Given the description of an element on the screen output the (x, y) to click on. 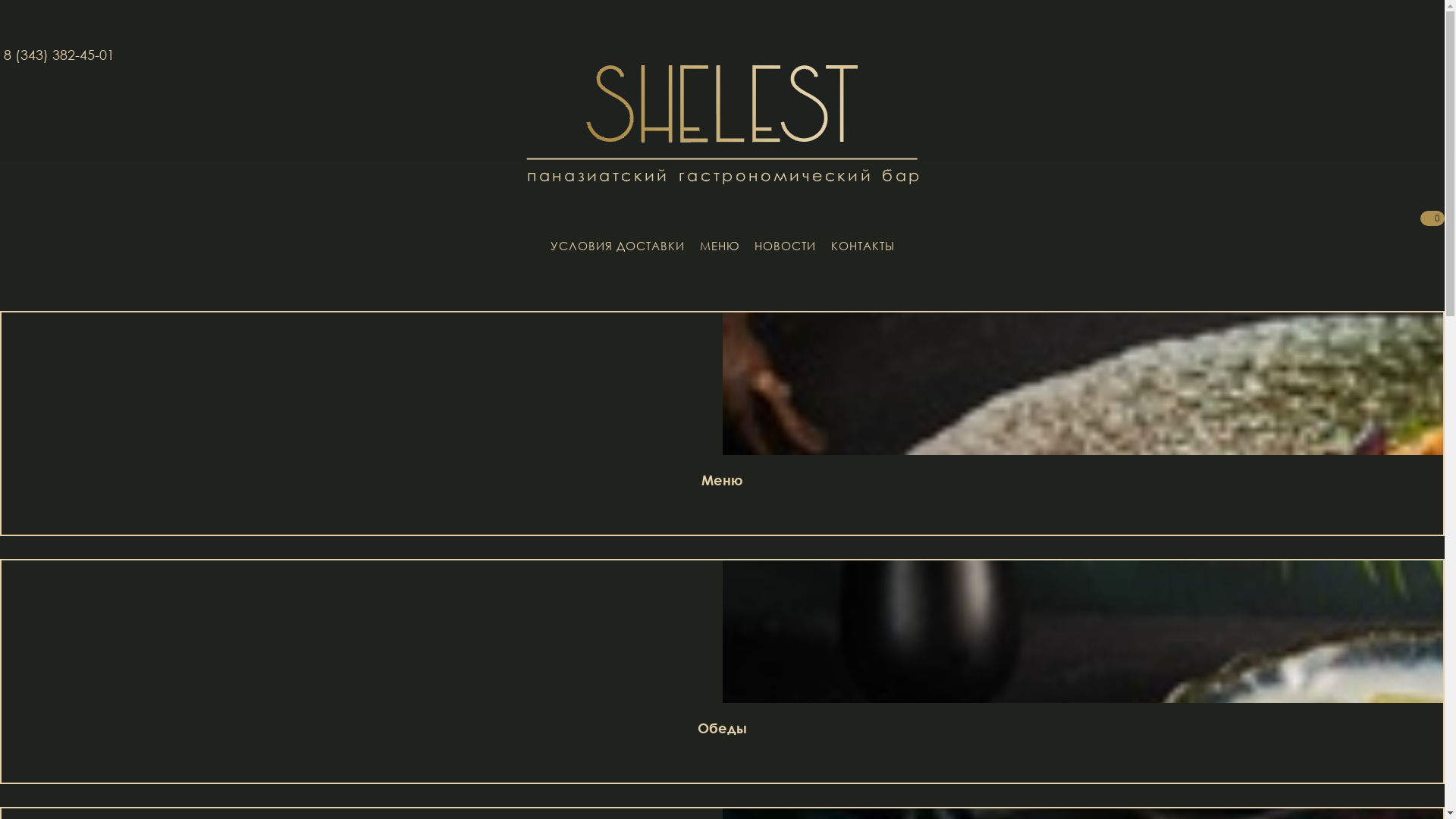
8 (343) 382-45-01 Element type: text (58, 54)
